Given the description of an element on the screen output the (x, y) to click on. 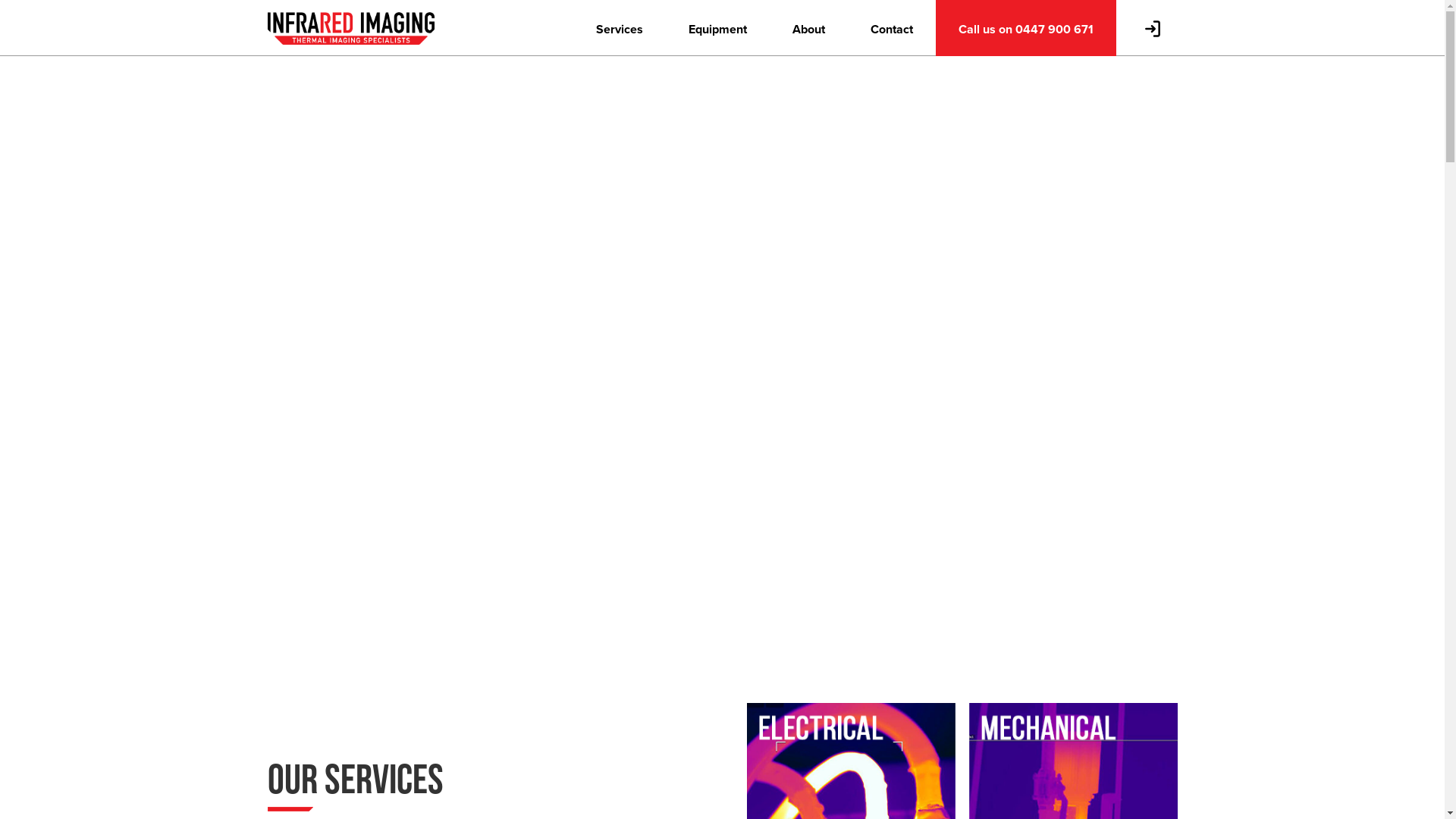
Call us on 0447 900 671 Element type: text (1025, 29)
About Element type: text (807, 29)
Equipment Element type: text (717, 29)
Contact Element type: text (891, 29)
Services Element type: text (619, 29)
